Given the description of an element on the screen output the (x, y) to click on. 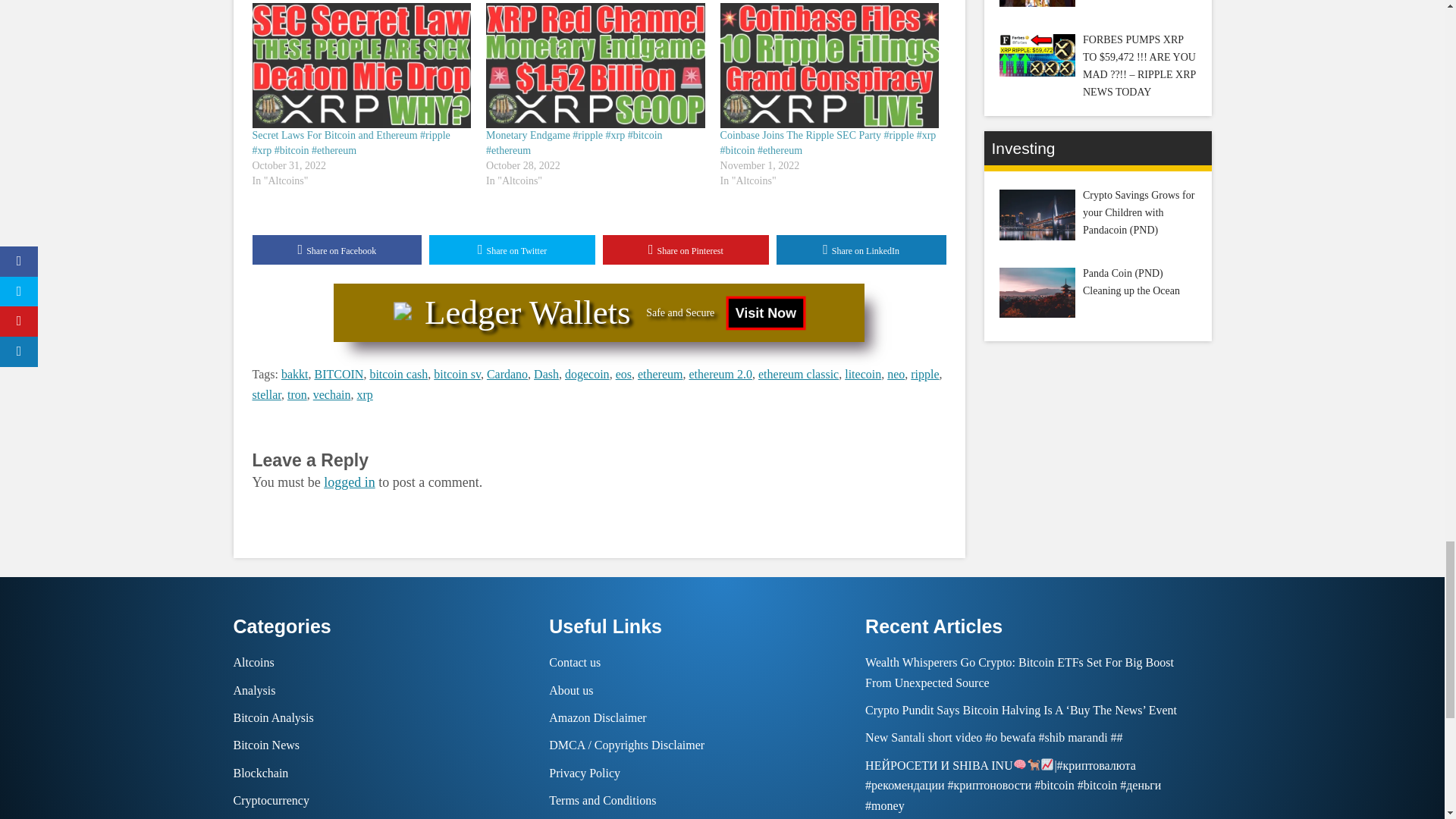
Visit Now (761, 311)
